Given the description of an element on the screen output the (x, y) to click on. 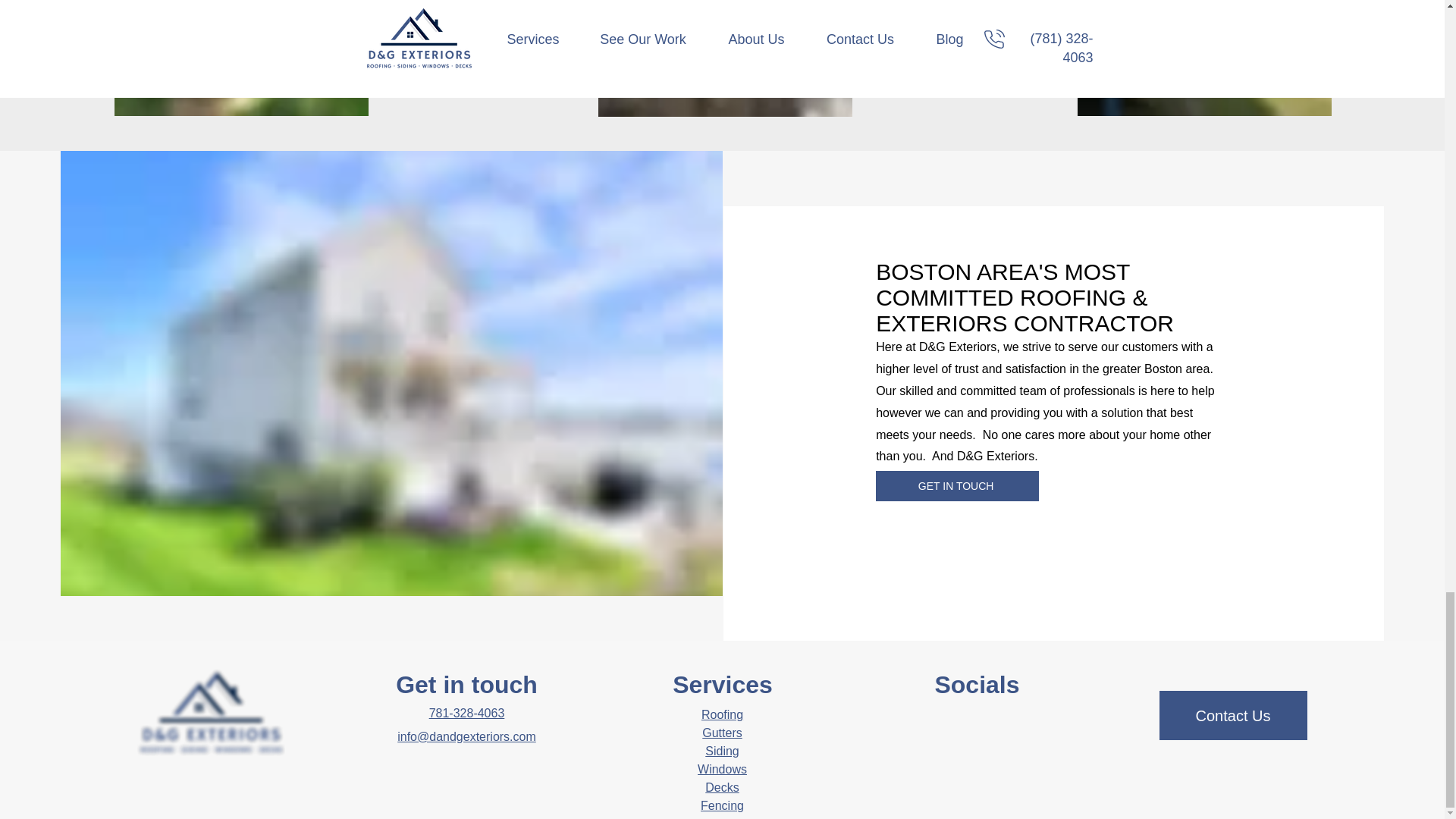
Decks (721, 787)
GET IN TOUCH (957, 485)
Gutters (721, 732)
781-328-4063 (467, 712)
Siding (721, 750)
Windows (721, 768)
Roofing (721, 714)
